Given the description of an element on the screen output the (x, y) to click on. 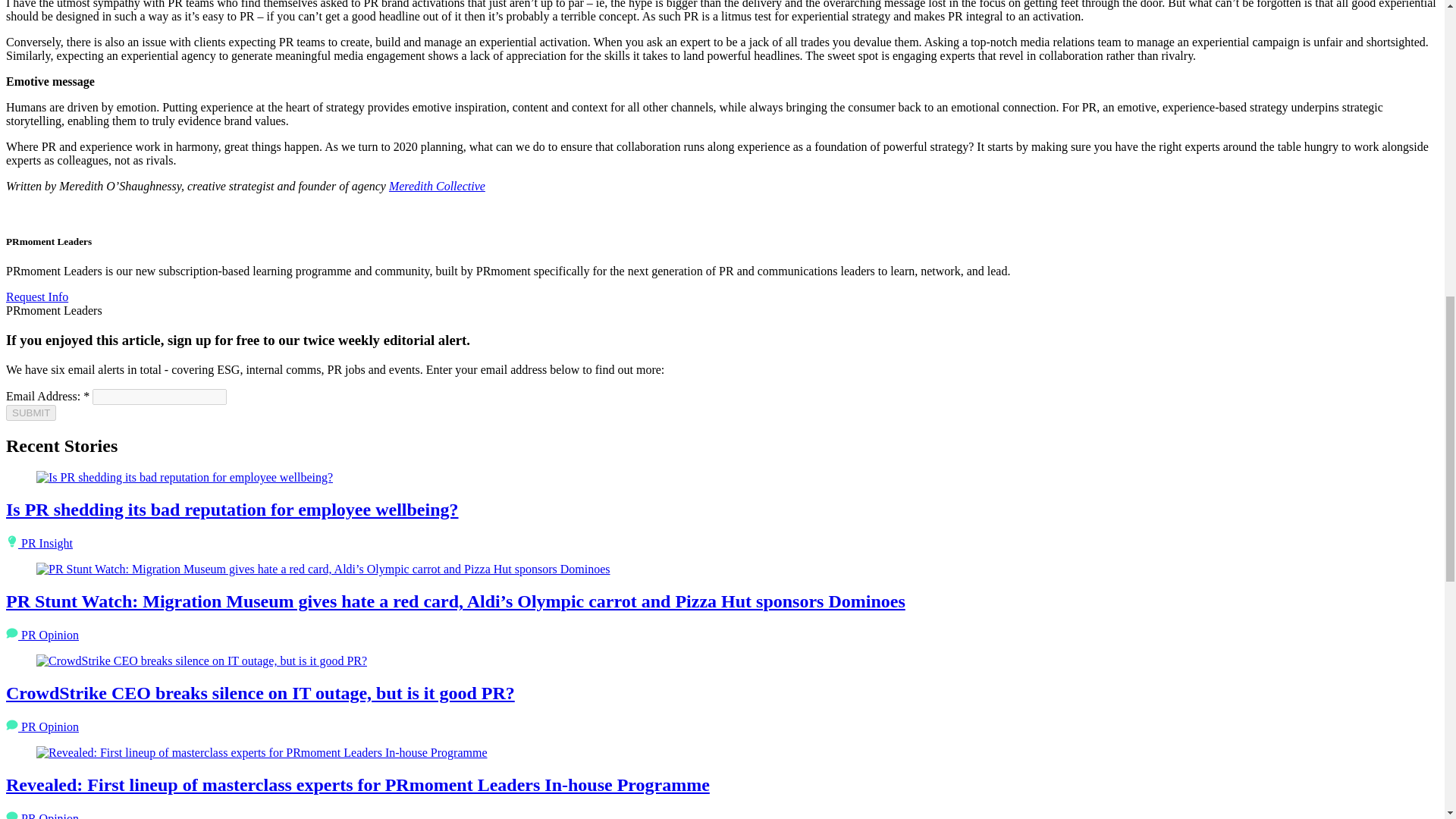
SUBMIT (30, 412)
